Given the description of an element on the screen output the (x, y) to click on. 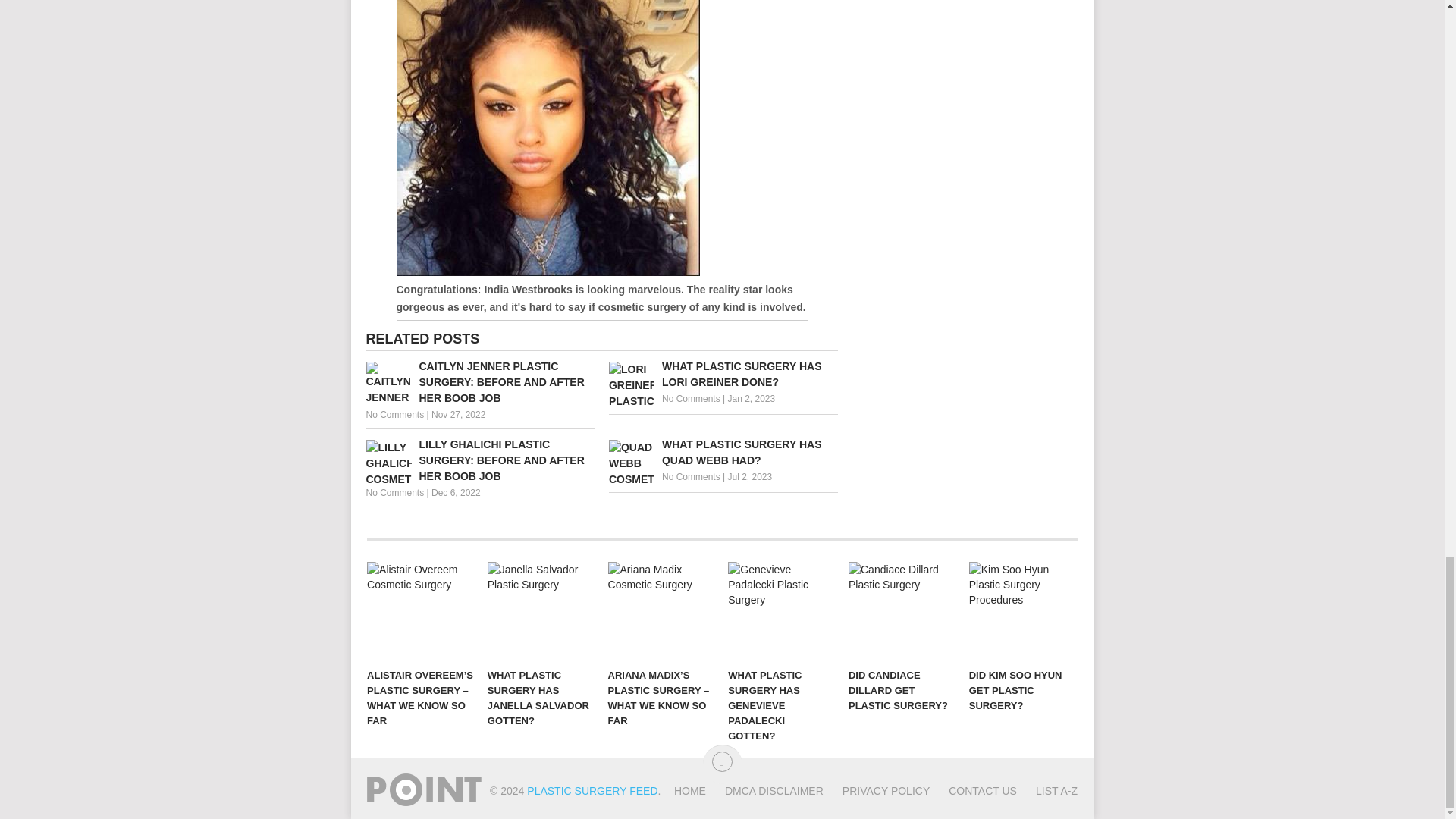
What Plastic Surgery Has Janella Salvador Gotten? (540, 610)
What Plastic Surgery Has Lori Greiner Done? (723, 374)
No Comments (691, 476)
No Comments (394, 414)
WHAT PLASTIC SURGERY HAS QUAD WEBB HAD? (723, 452)
No Comments (394, 492)
What Plastic Surgery Has Quad Webb Had? (723, 452)
WHAT PLASTIC SURGERY HAS LORI GREINER DONE? (723, 374)
No Comments (691, 398)
